Given the description of an element on the screen output the (x, y) to click on. 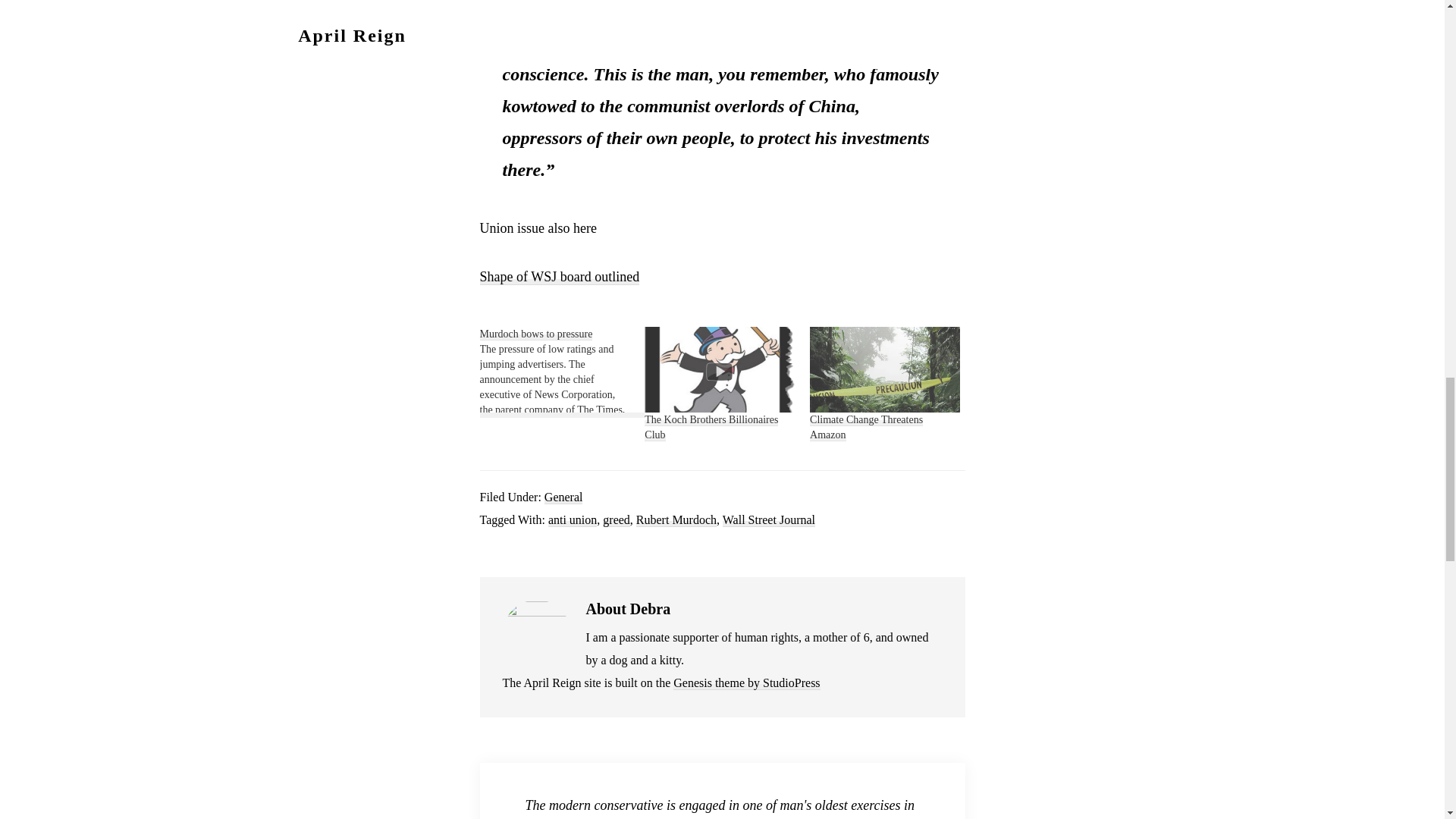
The Koch Brothers Billionaires Club (711, 427)
greed (616, 520)
Wall Street Journal (768, 520)
Murdoch bows to pressure (562, 371)
The Koch Brothers Billionaires Club (719, 369)
Murdoch bows to pressure (535, 334)
Climate Change Threatens Amazon (884, 369)
Climate Change Threatens Amazon (866, 427)
Climate Change Threatens Amazon (866, 427)
Rubert Murdoch (676, 520)
